Given the description of an element on the screen output the (x, y) to click on. 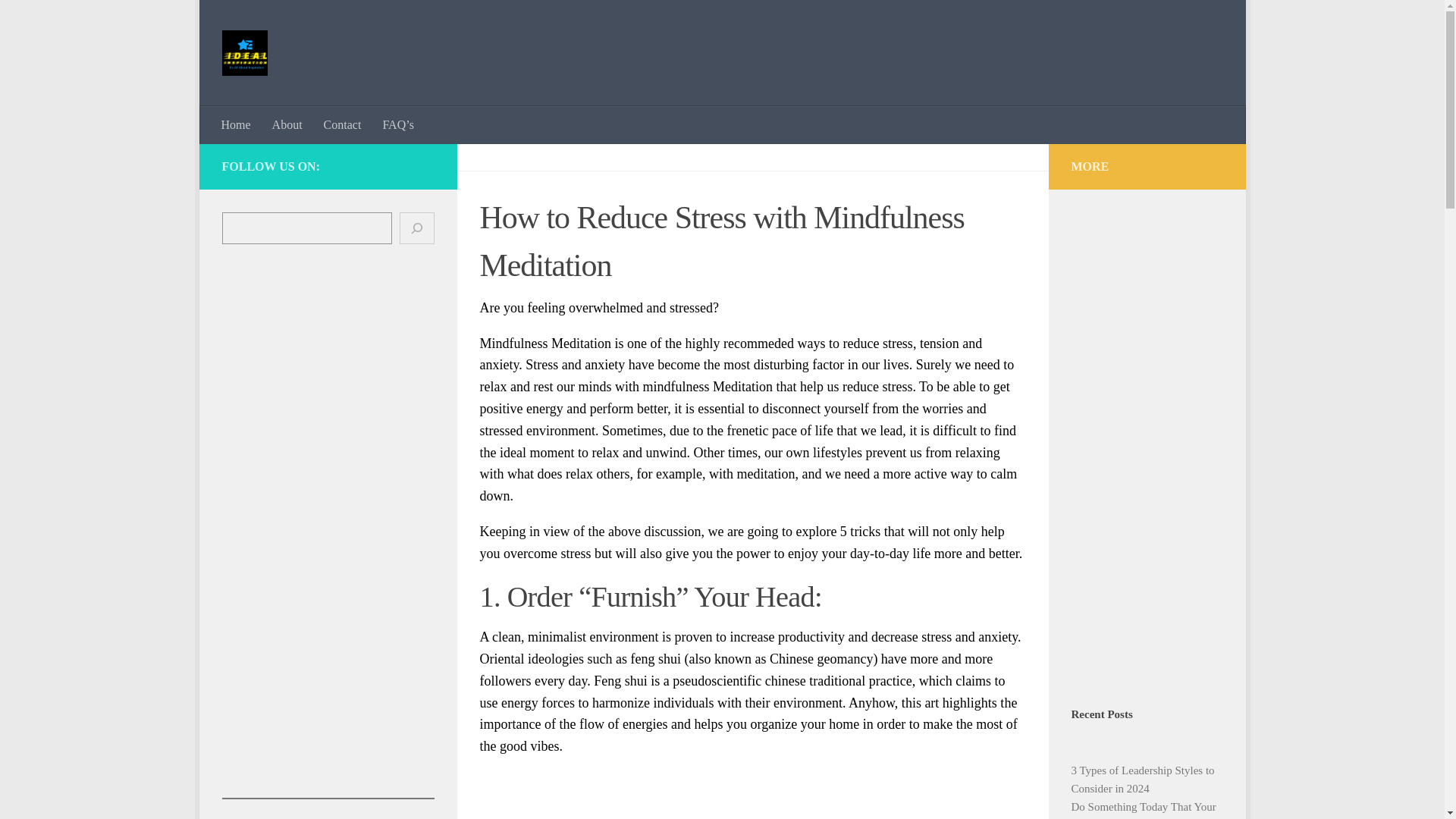
Home (236, 125)
3 Types of Leadership Styles to Consider in 2024 (1142, 779)
Do Something Today That Your Future Self will be Proud Of (1142, 809)
About (287, 125)
Skip to content (258, 20)
How to reduce Stress (752, 795)
Contact (342, 125)
